Given the description of an element on the screen output the (x, y) to click on. 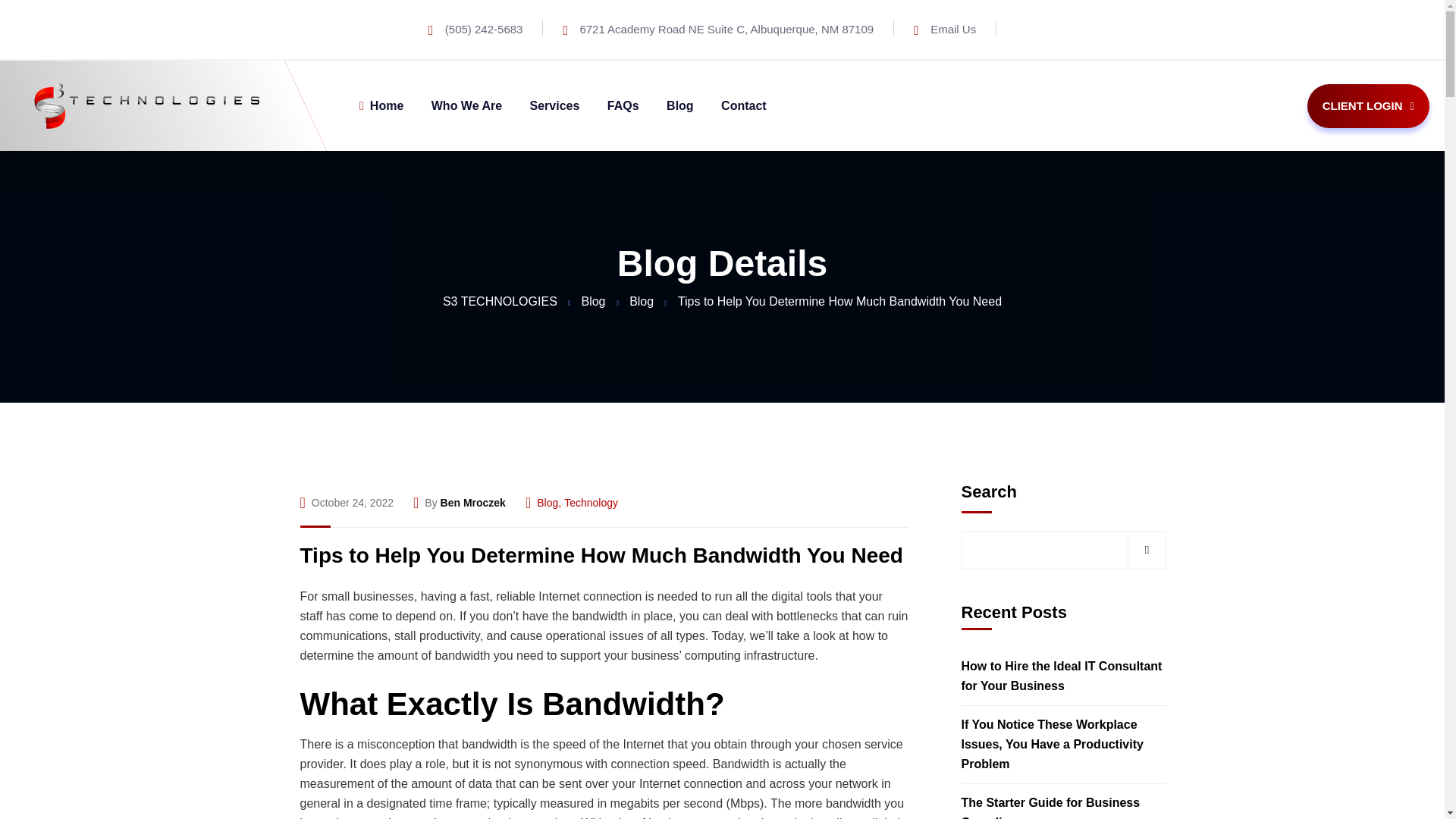
Posts by Ben Mroczek (473, 502)
Blog (640, 300)
Blog (592, 300)
CLIENT LOGIN (1368, 105)
S3 TECHNOLOGIES (499, 300)
Ben Mroczek (473, 502)
Blog (547, 502)
Tips to Help You Determine How Much Bandwidth You Need (600, 555)
Technology (590, 502)
Tips to Help You Determine How Much Bandwidth You Need (600, 555)
